Given the description of an element on the screen output the (x, y) to click on. 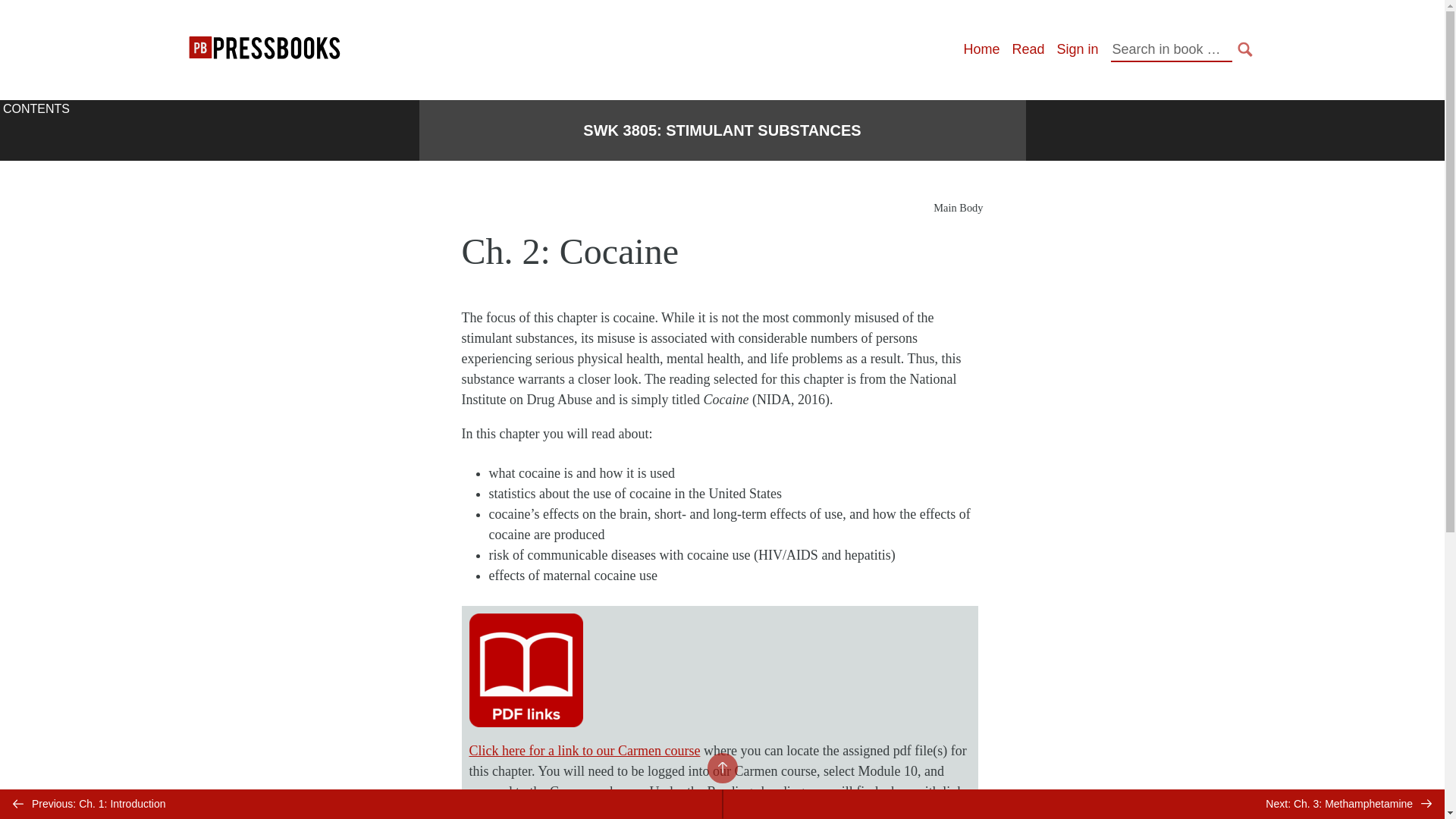
SWK 3805: STIMULANT SUBSTANCES (721, 129)
BACK TO TOP (721, 767)
Previous: Ch. 1: Introduction (361, 804)
Home (980, 48)
Previous: Ch. 1: Introduction (361, 804)
Read (1027, 48)
Sign in (1077, 48)
Click here for a link to our Carmen course (584, 750)
